Given the description of an element on the screen output the (x, y) to click on. 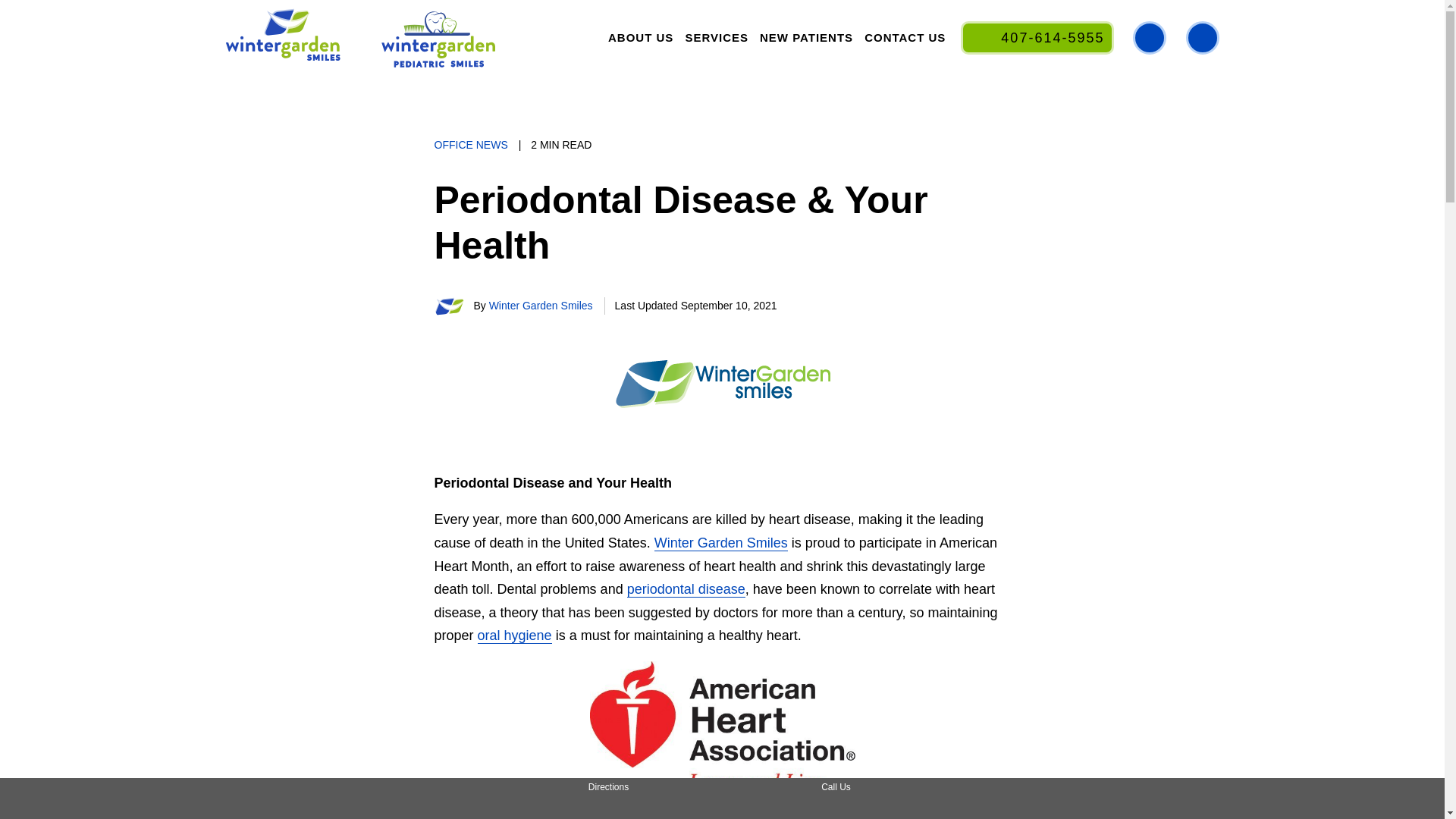
oral hygiene (514, 635)
Winter Garden Smiles (720, 543)
SERVICES (716, 37)
NEW PATIENTS (806, 37)
Winter Garden Smiles (540, 304)
OFFICE NEWS (469, 144)
407-614-5955 (1036, 37)
CONTACT US (904, 37)
Call Us (835, 798)
